Given the description of an element on the screen output the (x, y) to click on. 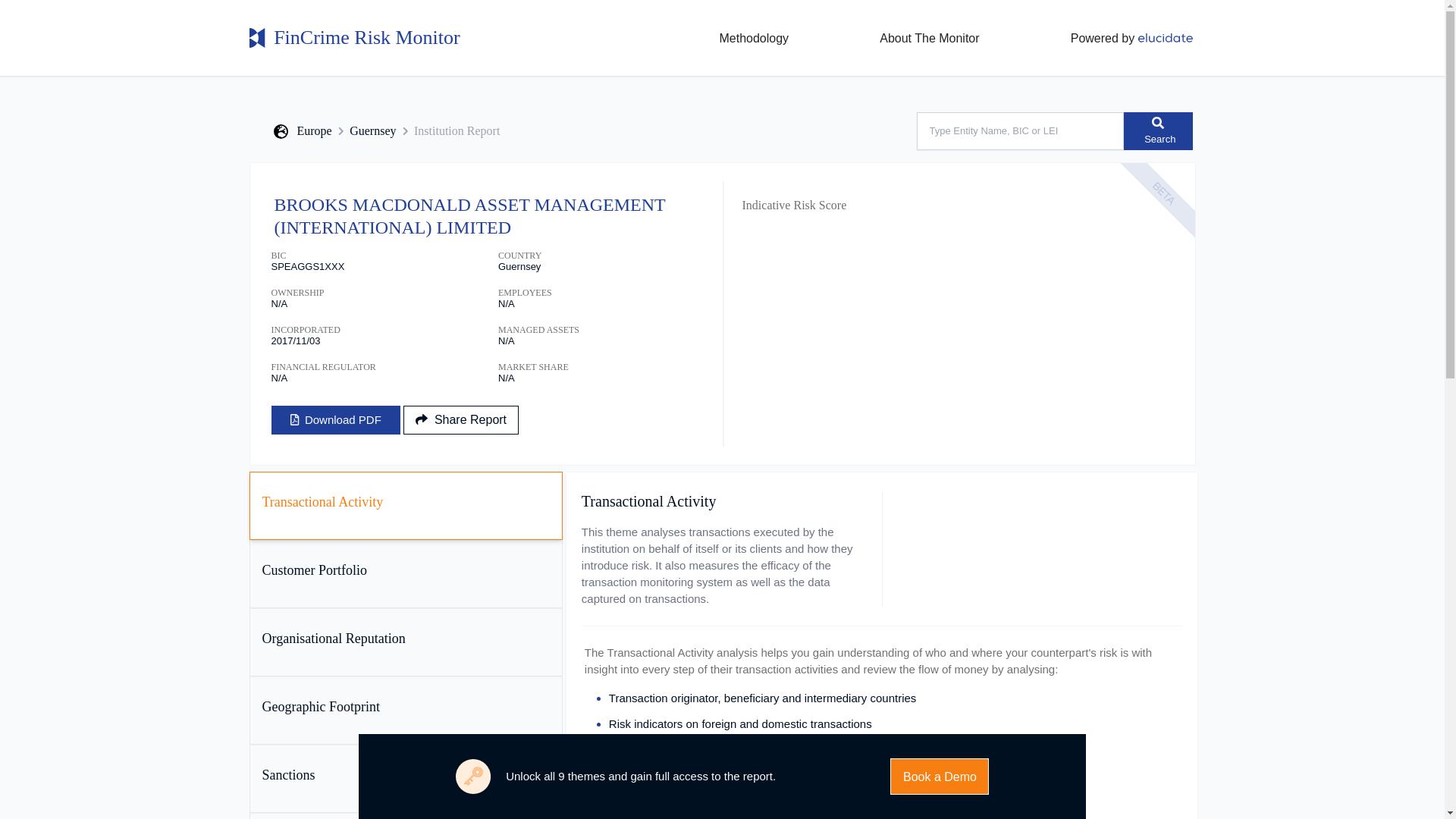
Search (1158, 130)
Europe (303, 130)
Methodology (751, 37)
Book a Demo (938, 776)
Powered by (1131, 38)
Share Report (460, 419)
Download PDF (335, 419)
FinCrime Risk Monitor (356, 37)
About The Monitor (925, 37)
FinCrime Risk Monitor (356, 37)
Guernsey (372, 130)
